Given the description of an element on the screen output the (x, y) to click on. 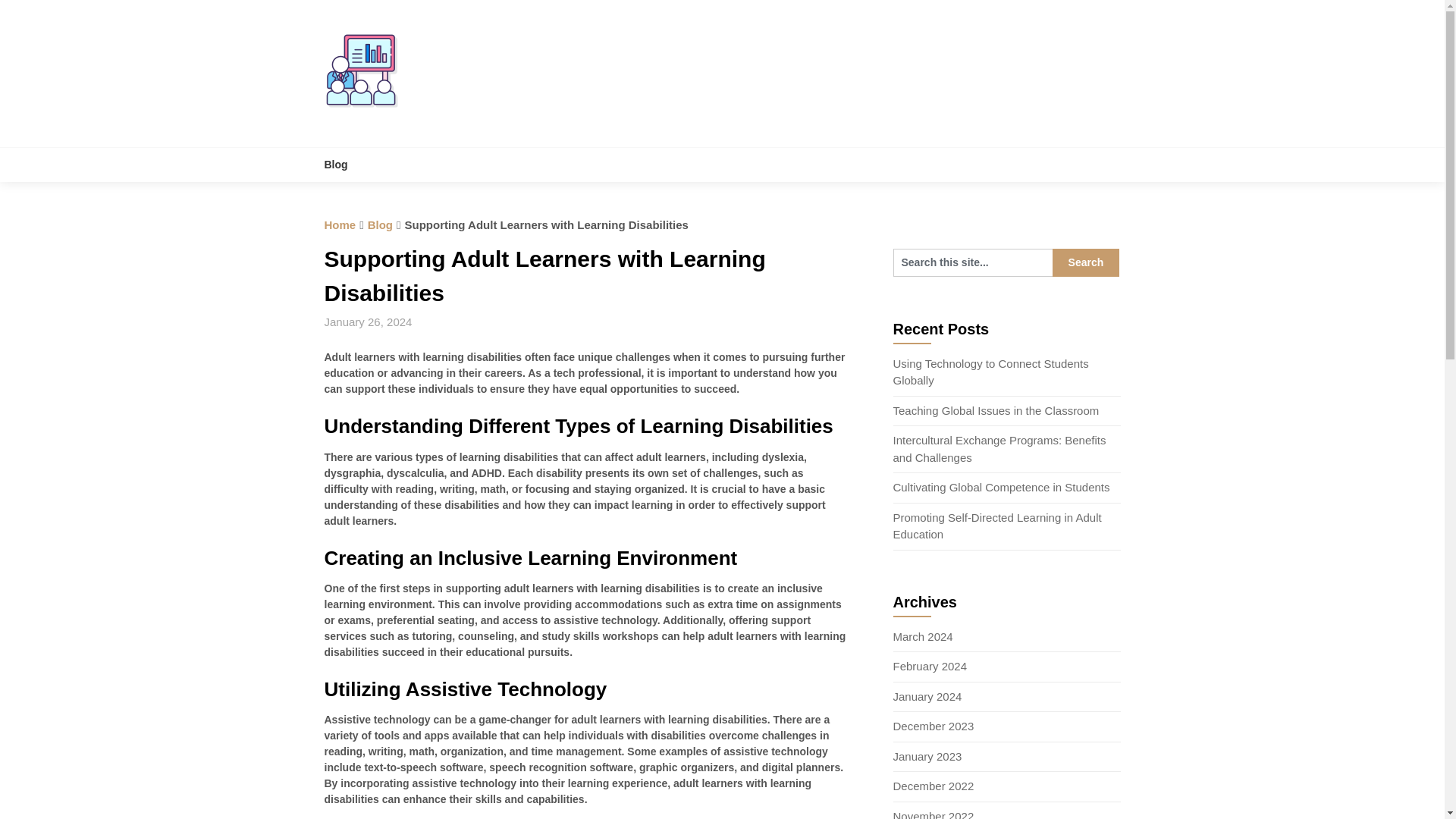
February 2024 (930, 666)
Search (1085, 262)
Using Technology to Connect Students Globally (991, 372)
Search this site... (972, 262)
November 2022 (933, 814)
January 2024 (927, 696)
December 2023 (933, 725)
Intercultural Exchange Programs: Benefits and Challenges (999, 449)
January 2023 (927, 756)
March 2024 (923, 635)
December 2022 (933, 785)
Blog (343, 164)
Home (340, 224)
Promoting Self-Directed Learning in Adult Education (997, 526)
Teaching Global Issues in the Classroom (996, 410)
